Given the description of an element on the screen output the (x, y) to click on. 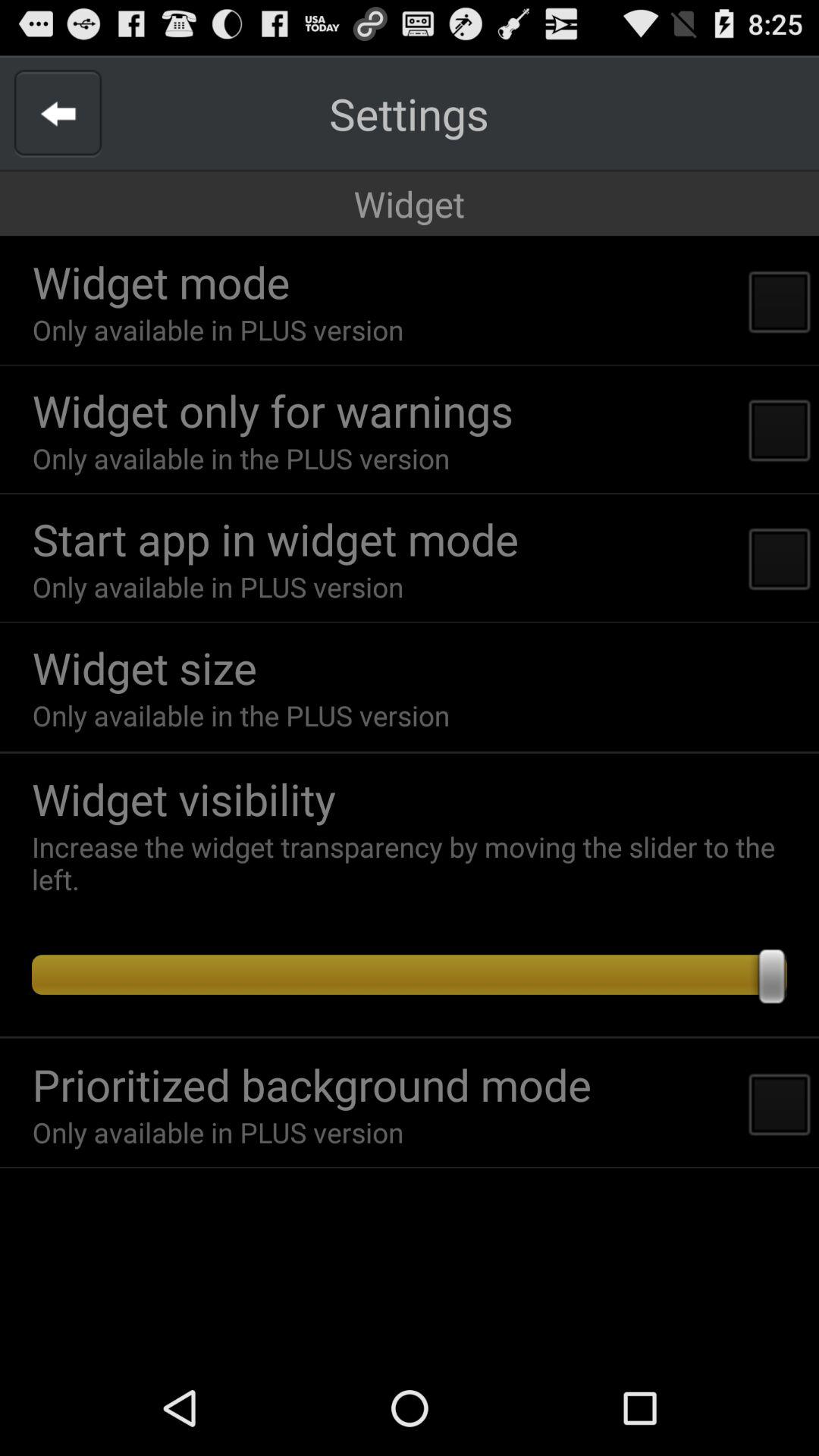
scroll to the widget size (144, 667)
